Given the description of an element on the screen output the (x, y) to click on. 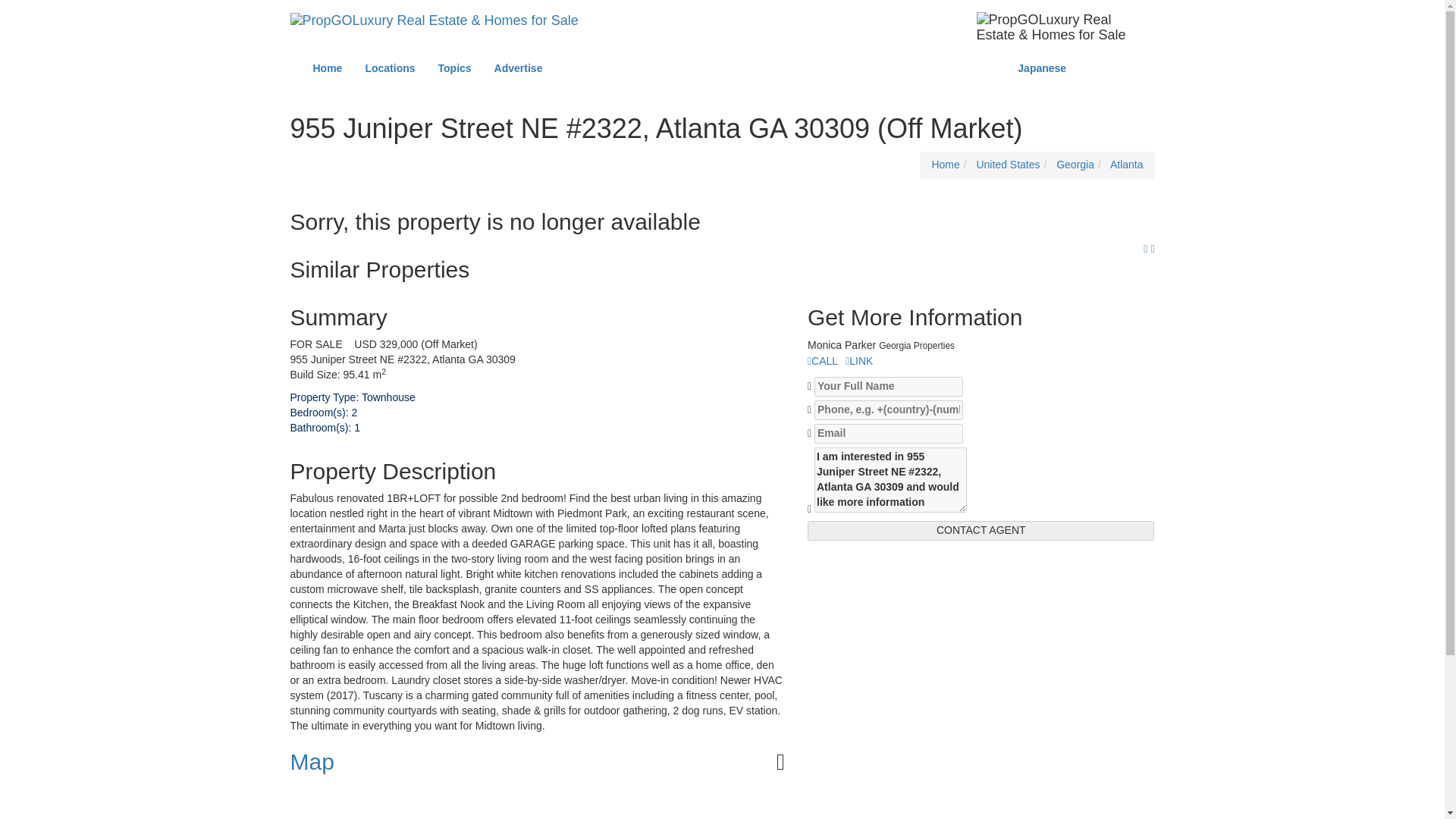
Home (327, 68)
Advertise (518, 68)
Locations (389, 68)
Topics (454, 68)
